Given the description of an element on the screen output the (x, y) to click on. 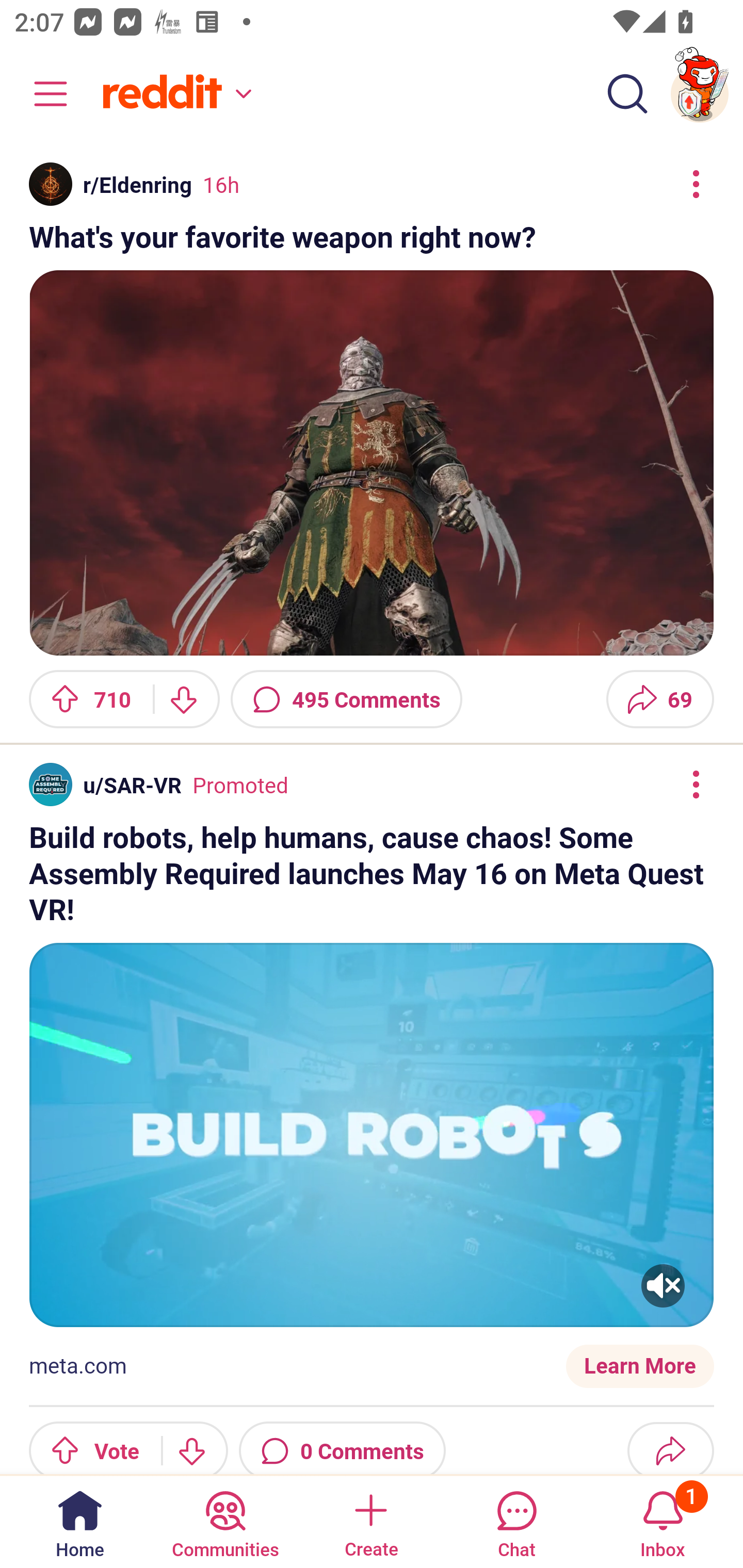
Search (626, 93)
TestAppium002 account (699, 93)
Community menu (41, 94)
Home feed (173, 94)
Home (80, 1520)
Communities (225, 1520)
Create a post Create (370, 1520)
Chat (516, 1520)
Inbox, has 1 notification 1 Inbox (662, 1520)
